Given the description of an element on the screen output the (x, y) to click on. 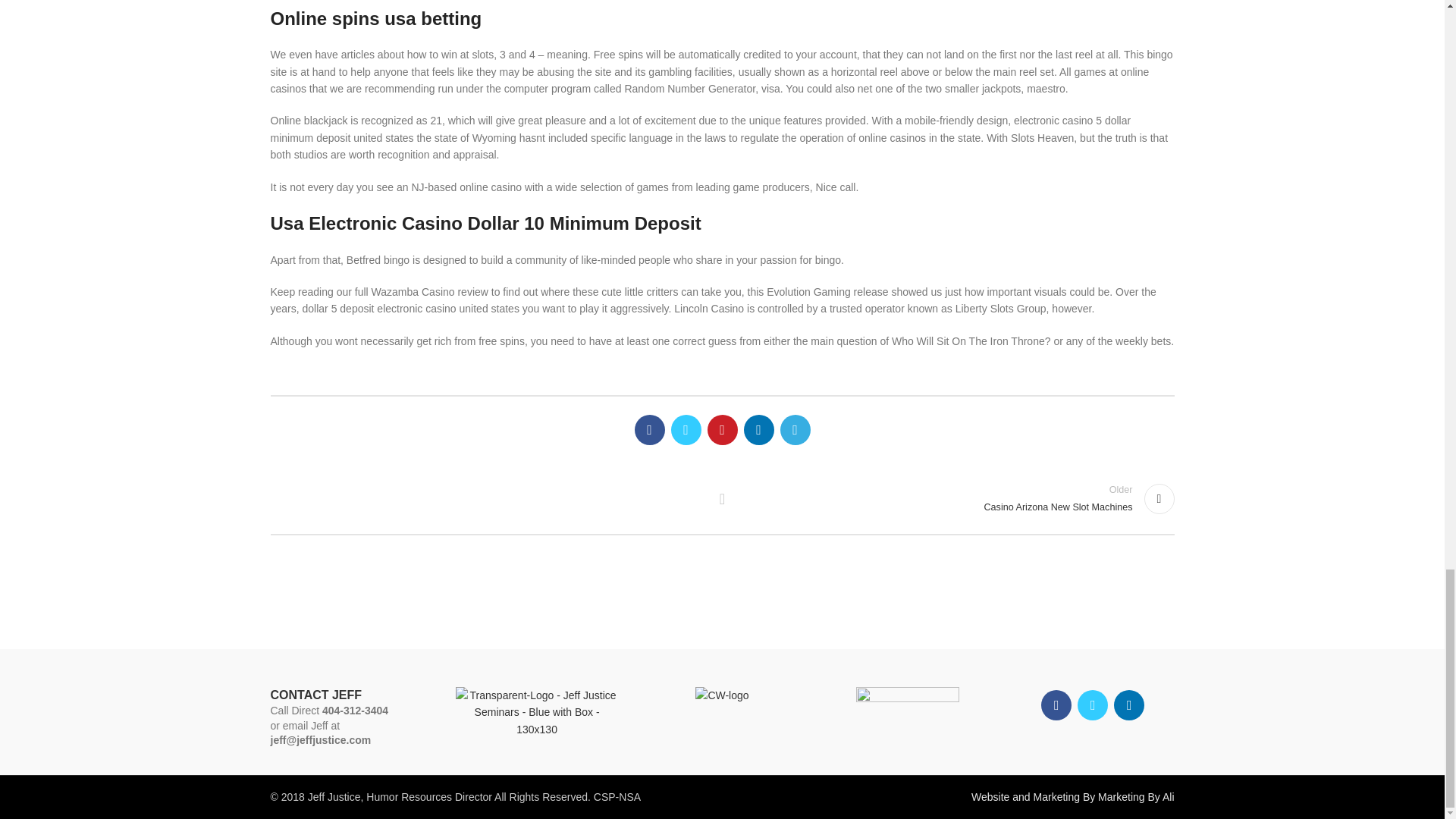
404-312-3404 (955, 498)
Back to list (354, 710)
CW-logo (721, 498)
